Given the description of an element on the screen output the (x, y) to click on. 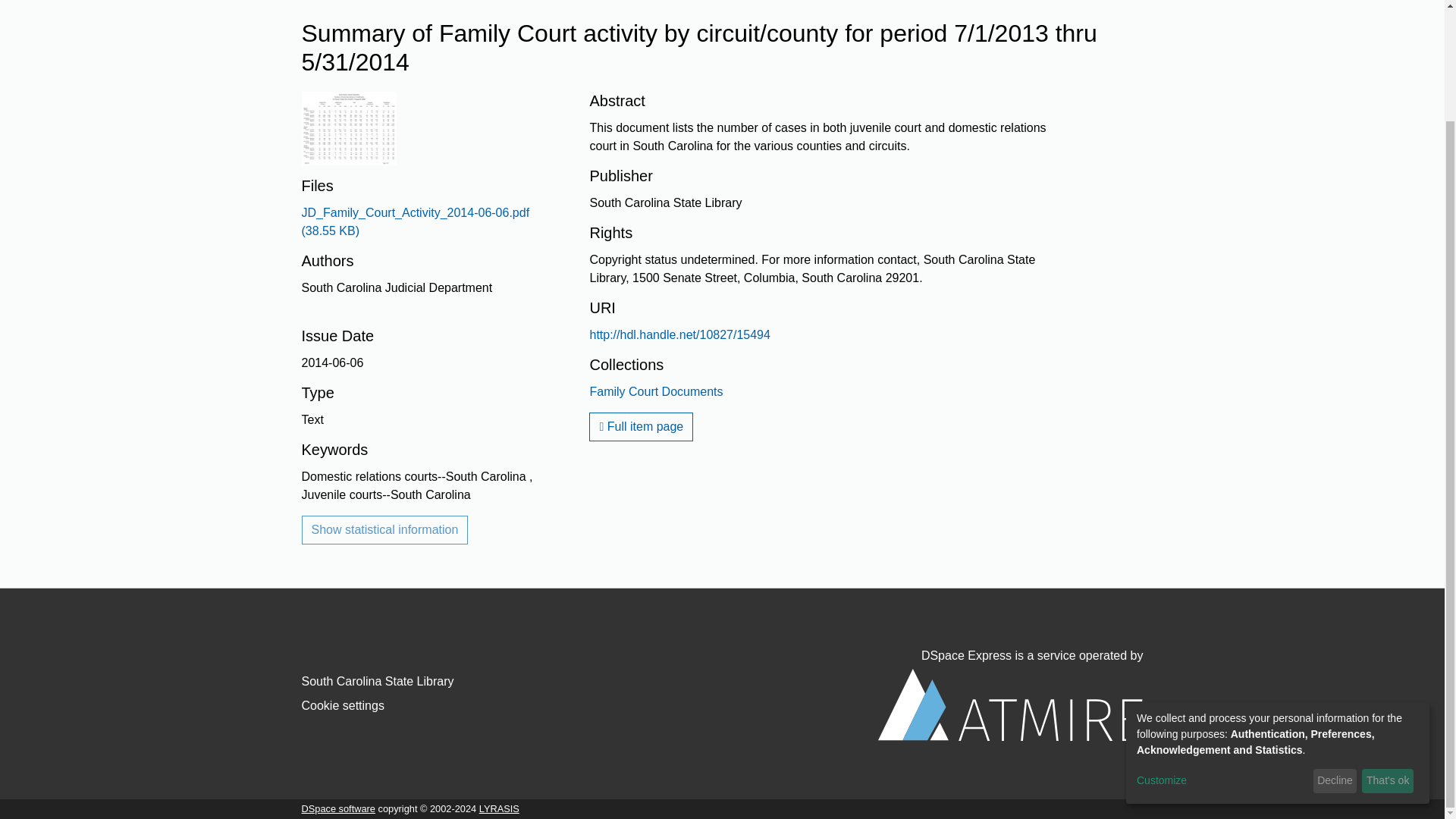
Cookie settings (342, 705)
Show statistical information (384, 529)
DSpace Express is a service operated by (1009, 695)
Family Court Documents (655, 391)
Full item page (641, 426)
Customize (1222, 649)
Decline (1334, 649)
That's ok (1387, 649)
LYRASIS (499, 808)
South Carolina State Library (377, 680)
